Given the description of an element on the screen output the (x, y) to click on. 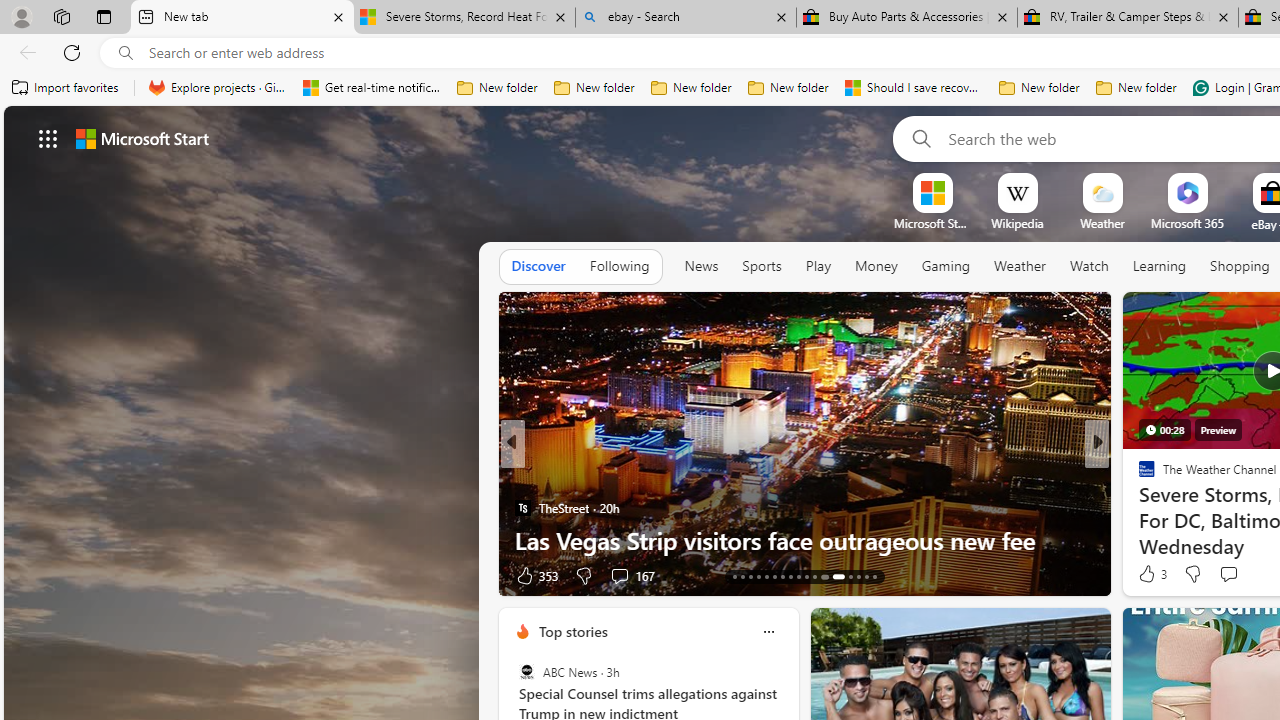
View comments 1 Comment (1241, 574)
Gaming (945, 267)
AutomationID: tab-22 (806, 576)
Shopping (1240, 265)
AutomationID: tab-23 (814, 576)
Weather (1020, 265)
AutomationID: tab-15 (750, 576)
NBC News (1138, 475)
Learning (1159, 265)
353 Like (535, 574)
View comments 1 Comment (1234, 575)
AutomationID: tab-17 (765, 576)
AutomationID: tab-13 (733, 576)
